Given the description of an element on the screen output the (x, y) to click on. 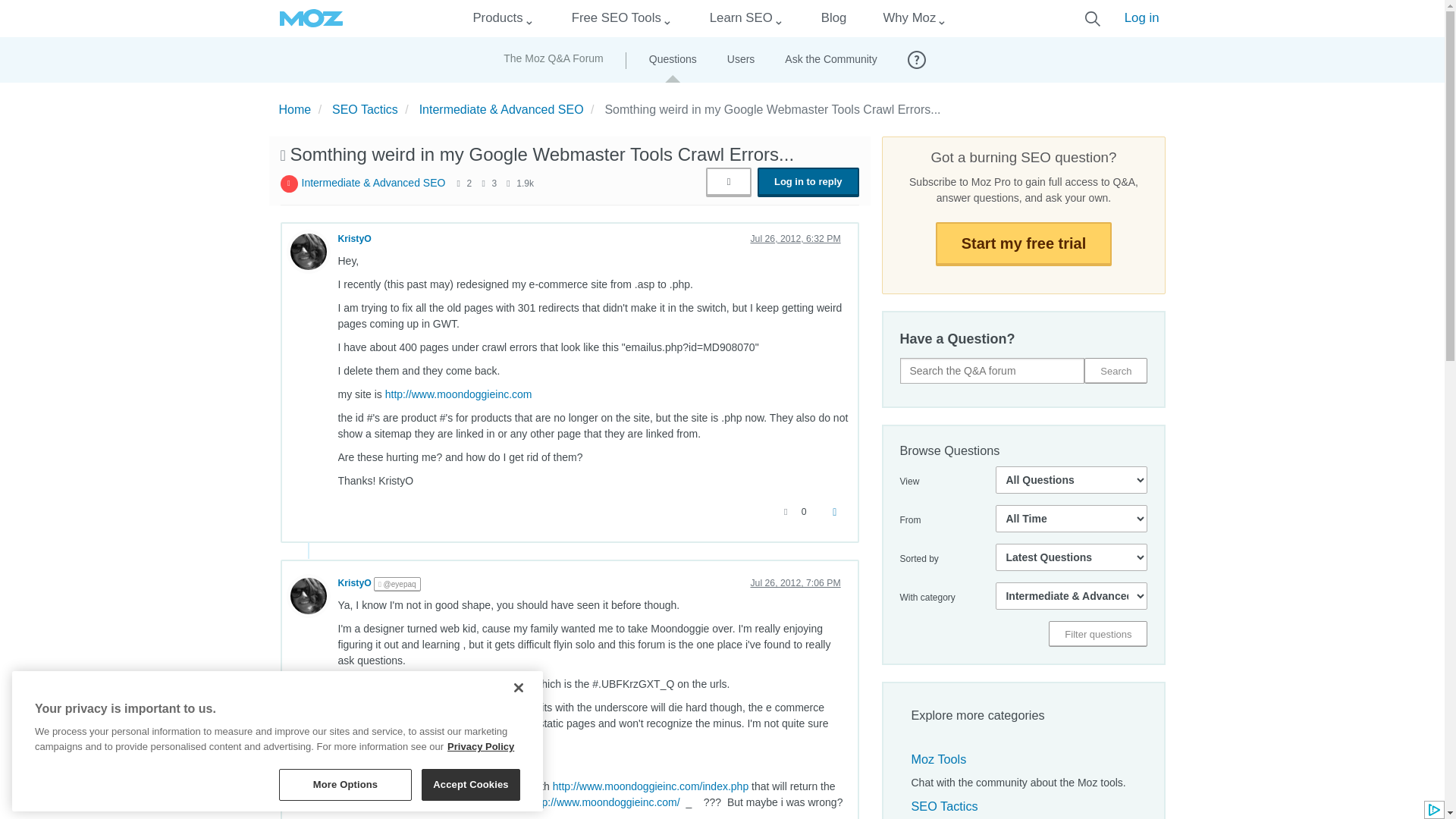
Moz logo (311, 18)
Moz logo (311, 18)
Products (496, 18)
Filter questions (1097, 633)
Moz Home (311, 18)
Search (1115, 370)
